Given the description of an element on the screen output the (x, y) to click on. 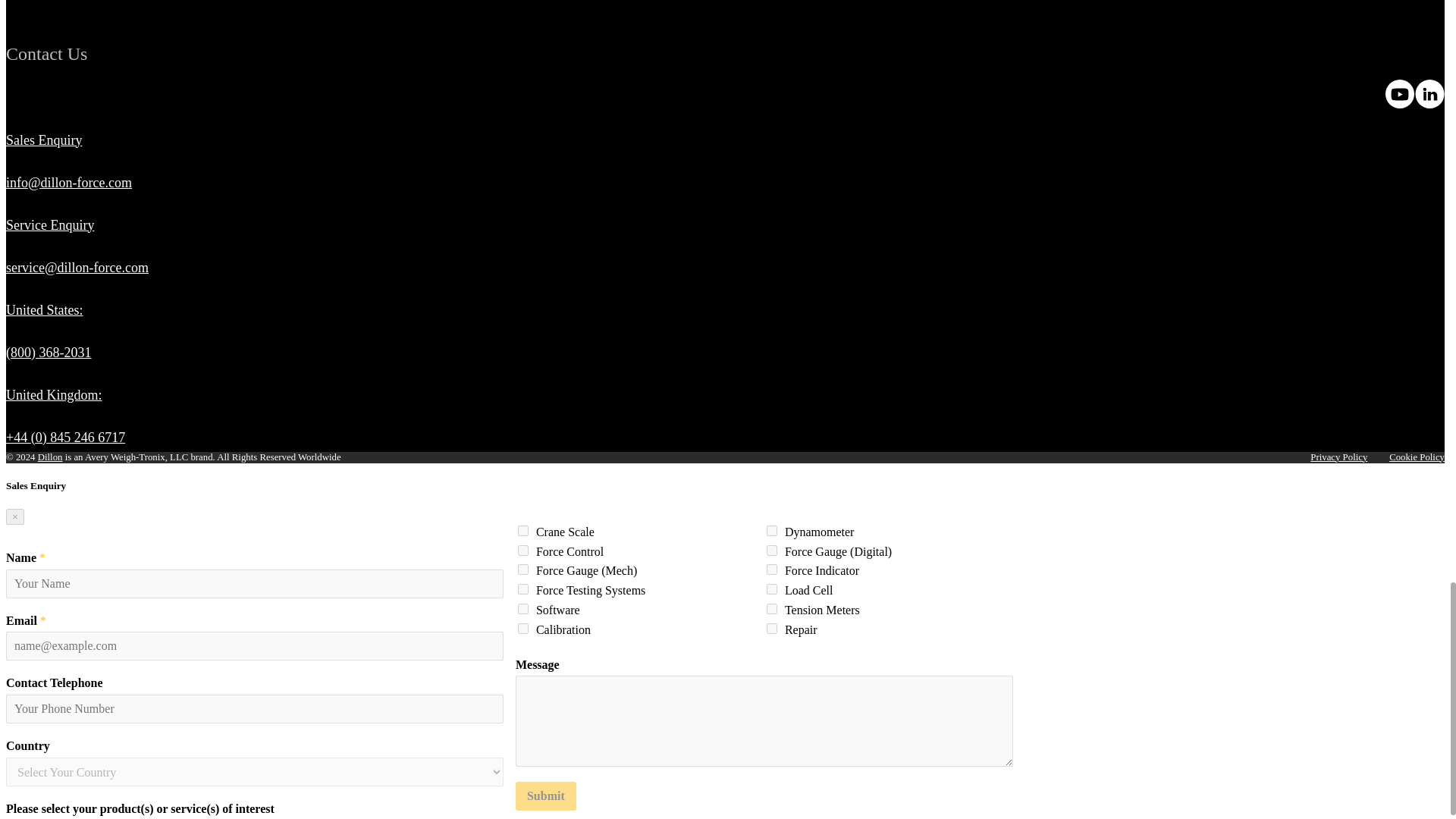
Force Control (523, 550)
Dynamometer (772, 530)
Software (523, 608)
Repair (772, 628)
Calibration (523, 628)
Crane Scale (523, 530)
Force Indicator (772, 569)
Load Cell (772, 588)
Tension Meters (772, 608)
Dillon Privacy Policy (1338, 457)
Force Testing Systems (523, 588)
